Given the description of an element on the screen output the (x, y) to click on. 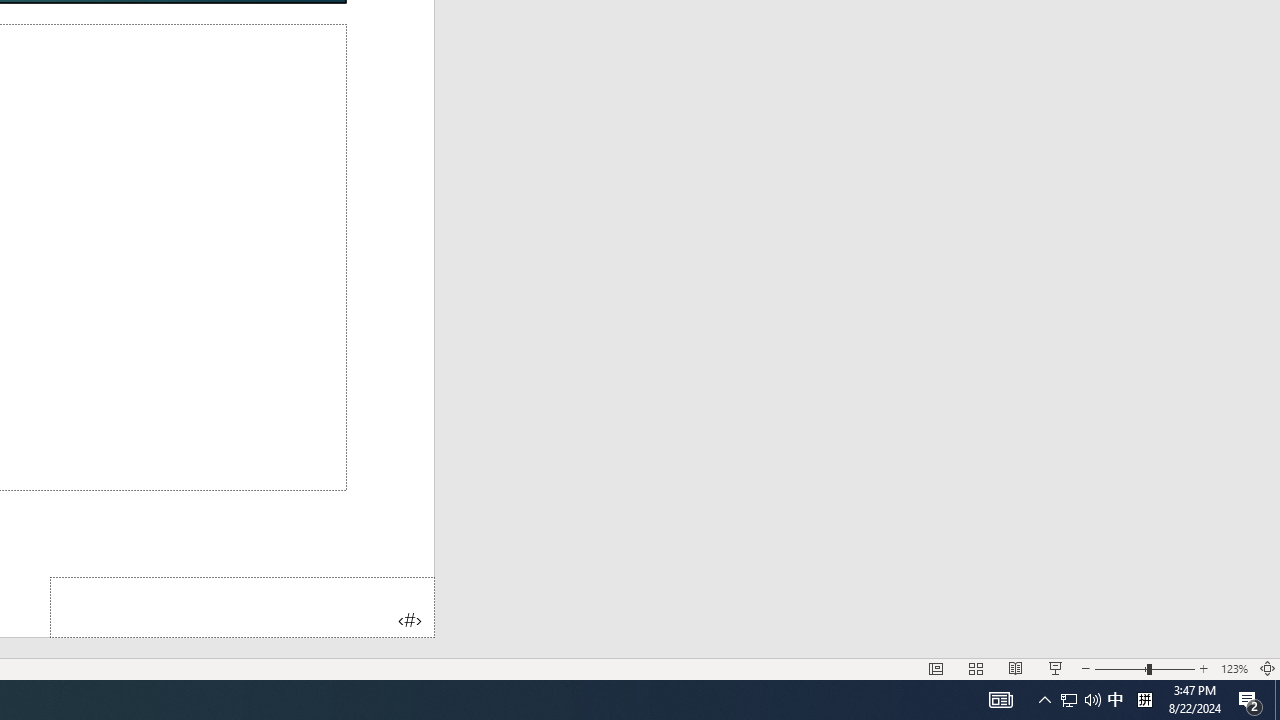
Page Number (242, 606)
Zoom 123% (1234, 668)
